Given the description of an element on the screen output the (x, y) to click on. 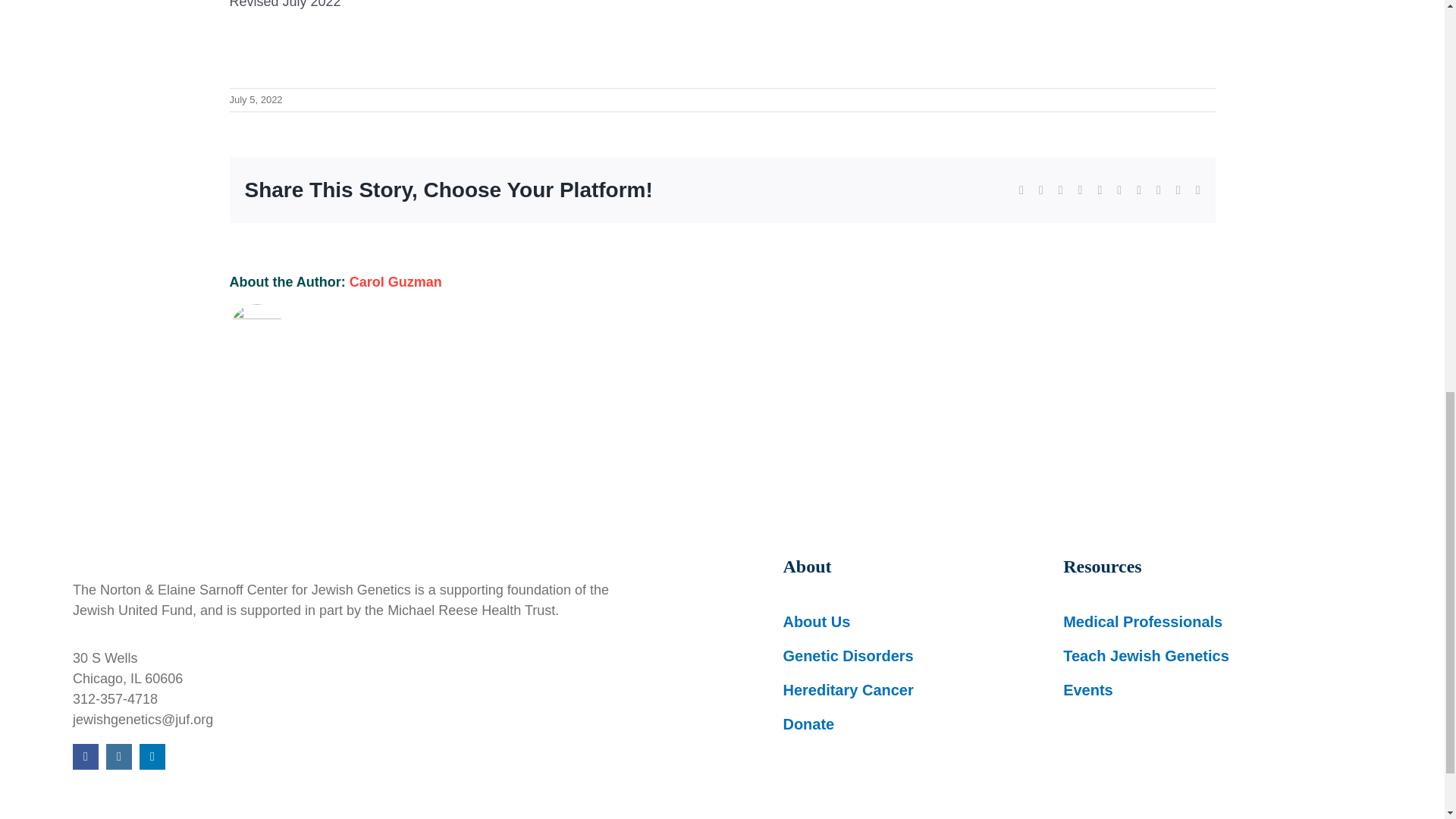
jewishunitedfund-logo (299, 533)
Facebook (85, 756)
Posts by Carol Guzman (395, 281)
